Given the description of an element on the screen output the (x, y) to click on. 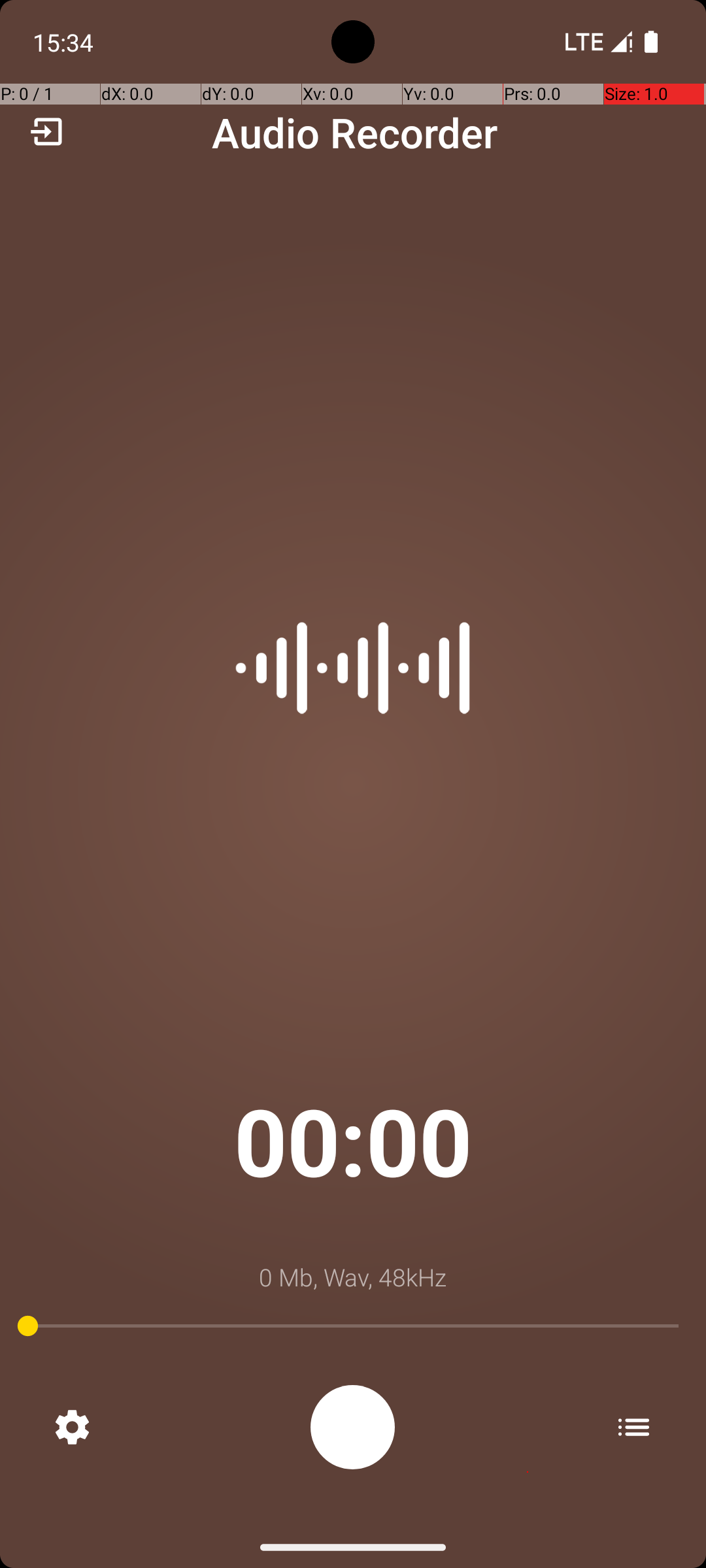
00:00 Element type: android.widget.TextView (352, 1140)
0 Mb, Wav, 48kHz Element type: android.widget.TextView (352, 1276)
Settings Element type: android.widget.ImageButton (72, 1427)
Recording: %s Element type: android.widget.ImageButton (352, 1427)
